Given the description of an element on the screen output the (x, y) to click on. 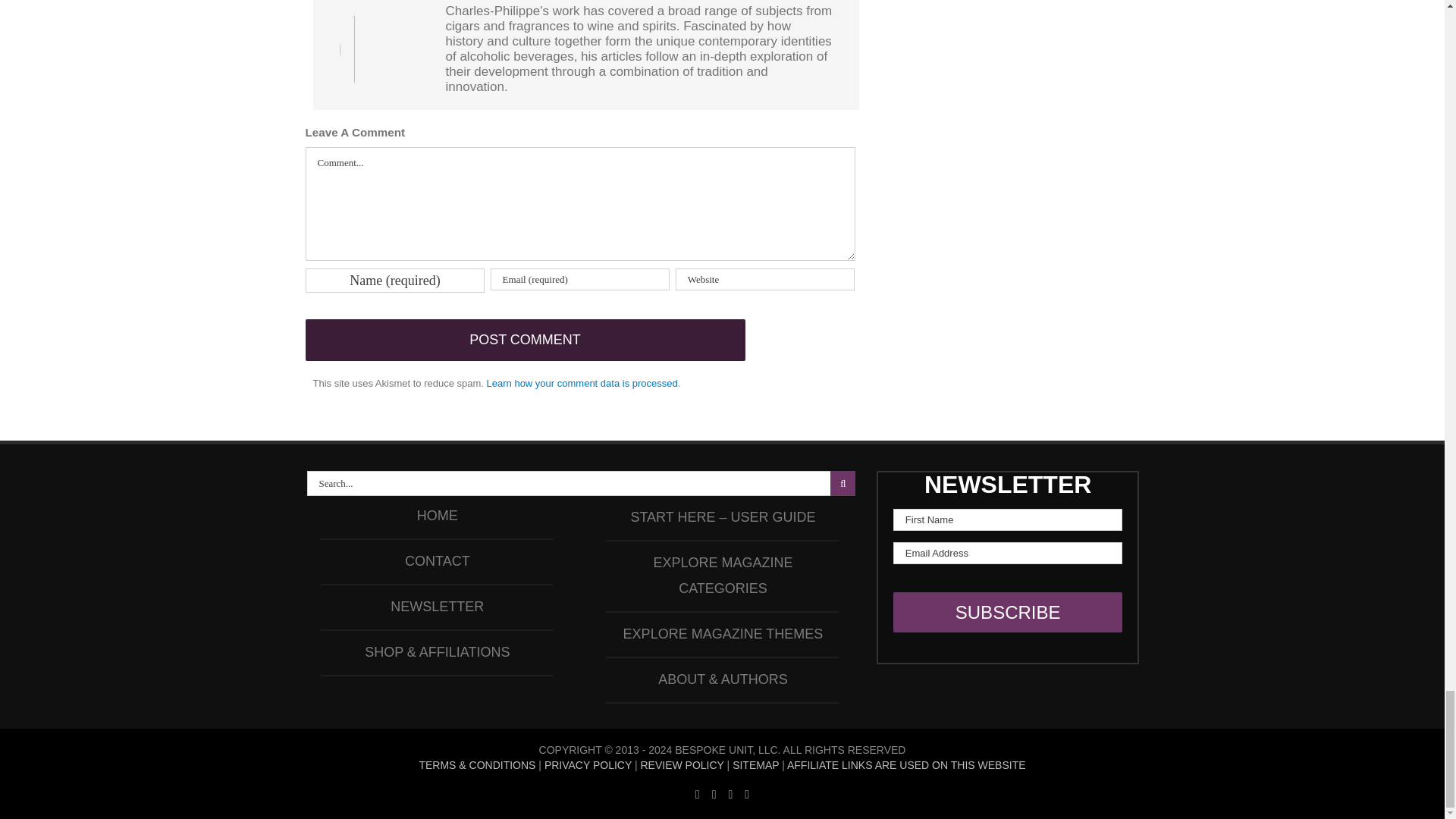
Post Comment (524, 340)
Subscribe (1007, 612)
